Given the description of an element on the screen output the (x, y) to click on. 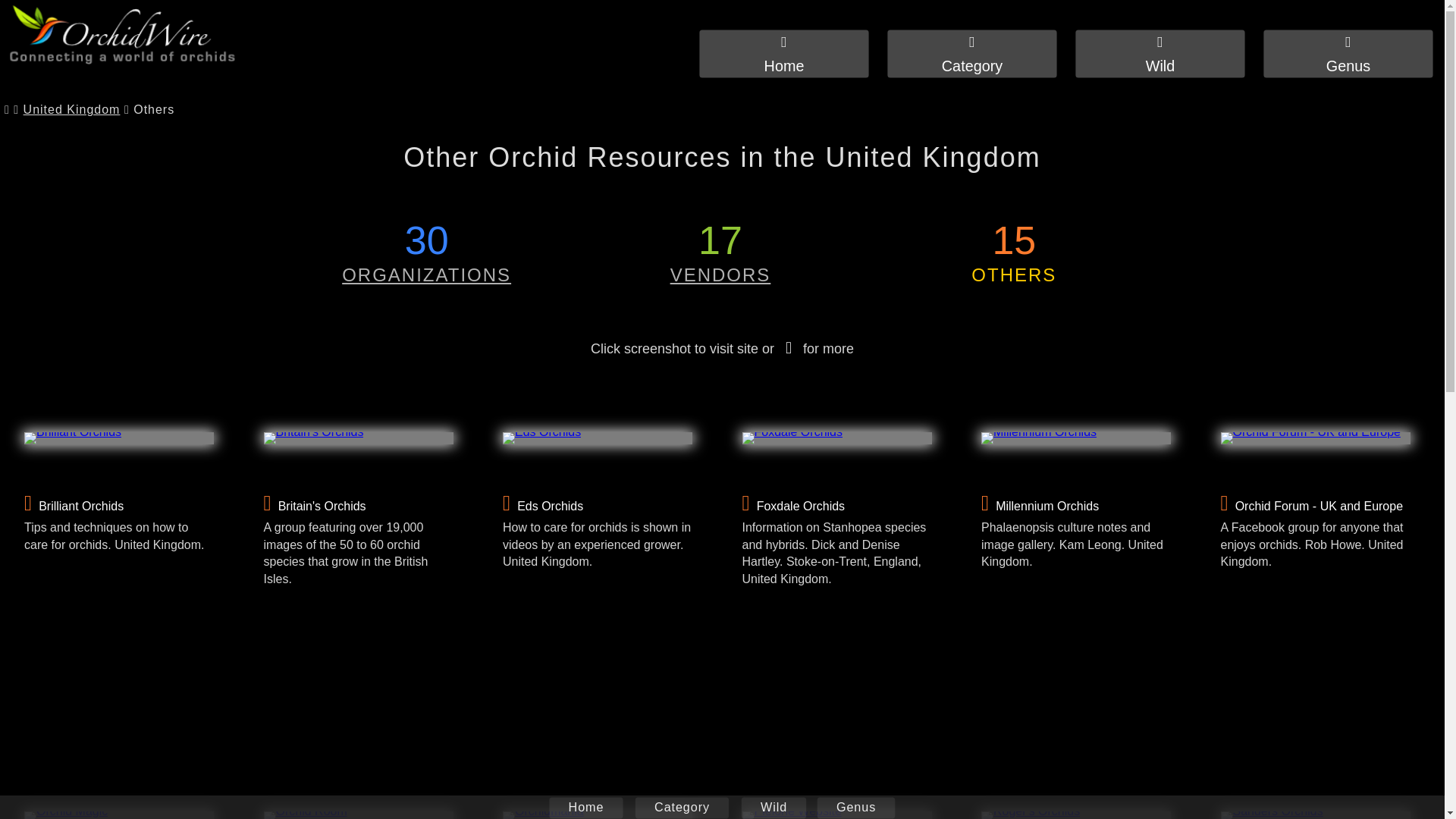
United Kingdom (71, 109)
Go to Foxdale Orchids (836, 438)
Go to Eds Orchids (597, 438)
Go to Brilliant Orchids (119, 438)
VENDORS (720, 275)
Go to Orchid Room (357, 815)
Go to Millennium Orchids (1075, 438)
Go to Orchidmania (597, 815)
Wild (1169, 56)
Go to Pleione Website (836, 815)
Category (980, 56)
Go to Orchid Forum - UK and Europe (1315, 438)
Go to Britain's Orchids (357, 438)
Go to Orchid Magic (119, 815)
Home (792, 56)
